Given the description of an element on the screen output the (x, y) to click on. 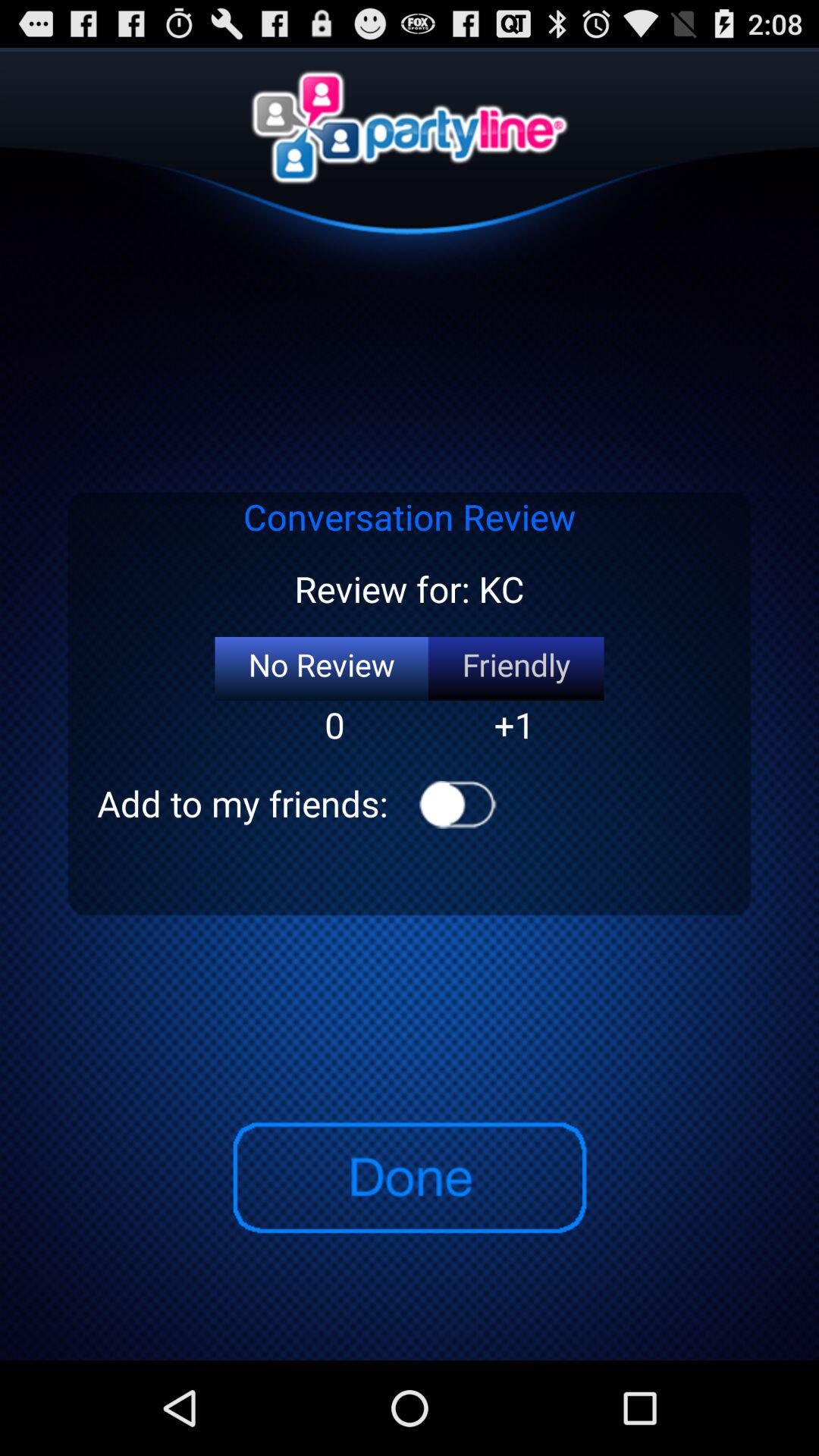
select the app to the right of add to my (457, 804)
